Given the description of an element on the screen output the (x, y) to click on. 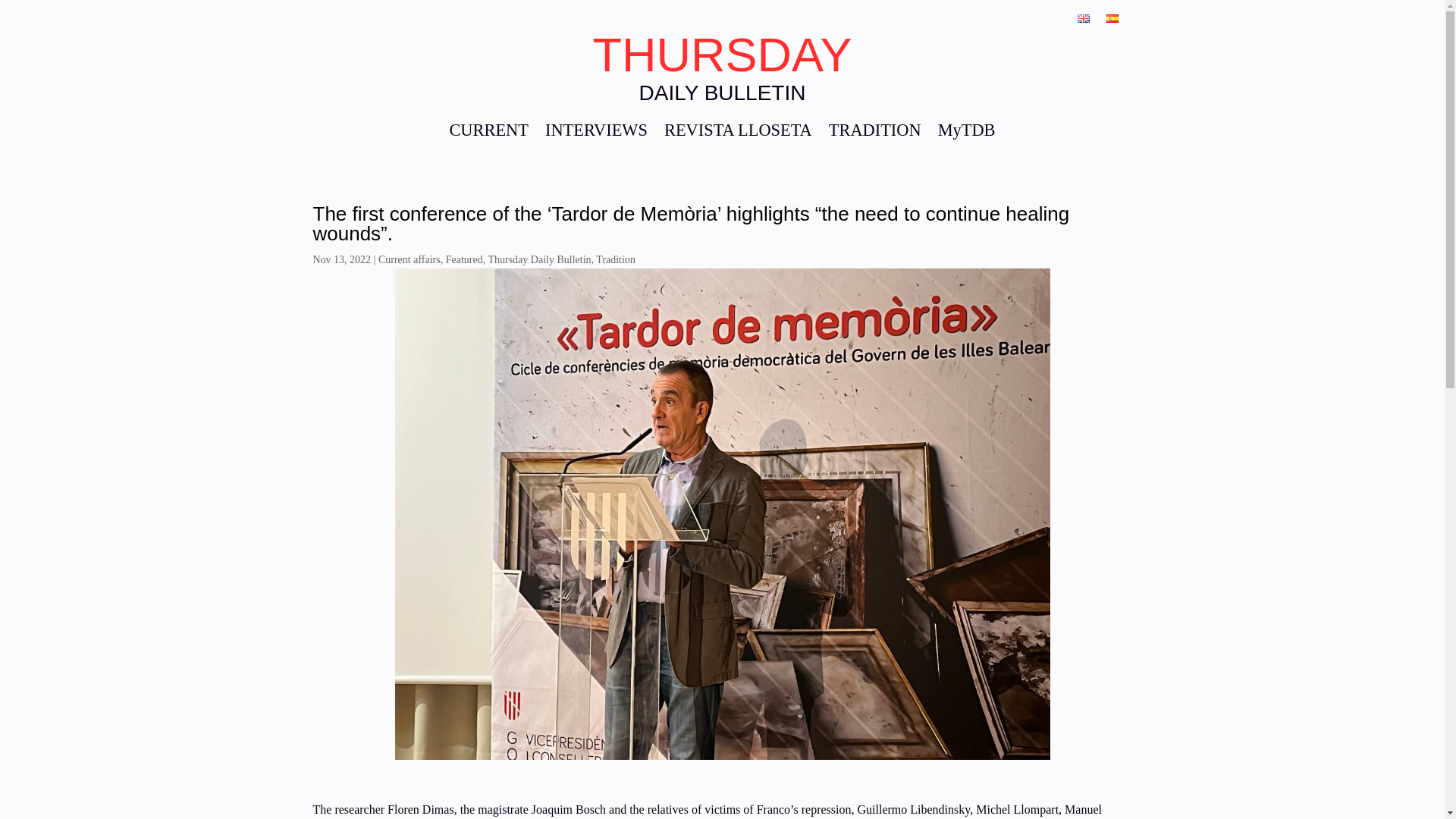
Tradition (614, 259)
THURSDAY (721, 54)
MyTDB (966, 133)
Featured (464, 259)
INTERVIEWS (595, 133)
TRADITION (874, 133)
Current affairs (409, 259)
THURSDAY (721, 54)
REVISTA LLOSETA (737, 133)
CURRENT (488, 133)
Thursday Daily Bulletin (539, 259)
